Given the description of an element on the screen output the (x, y) to click on. 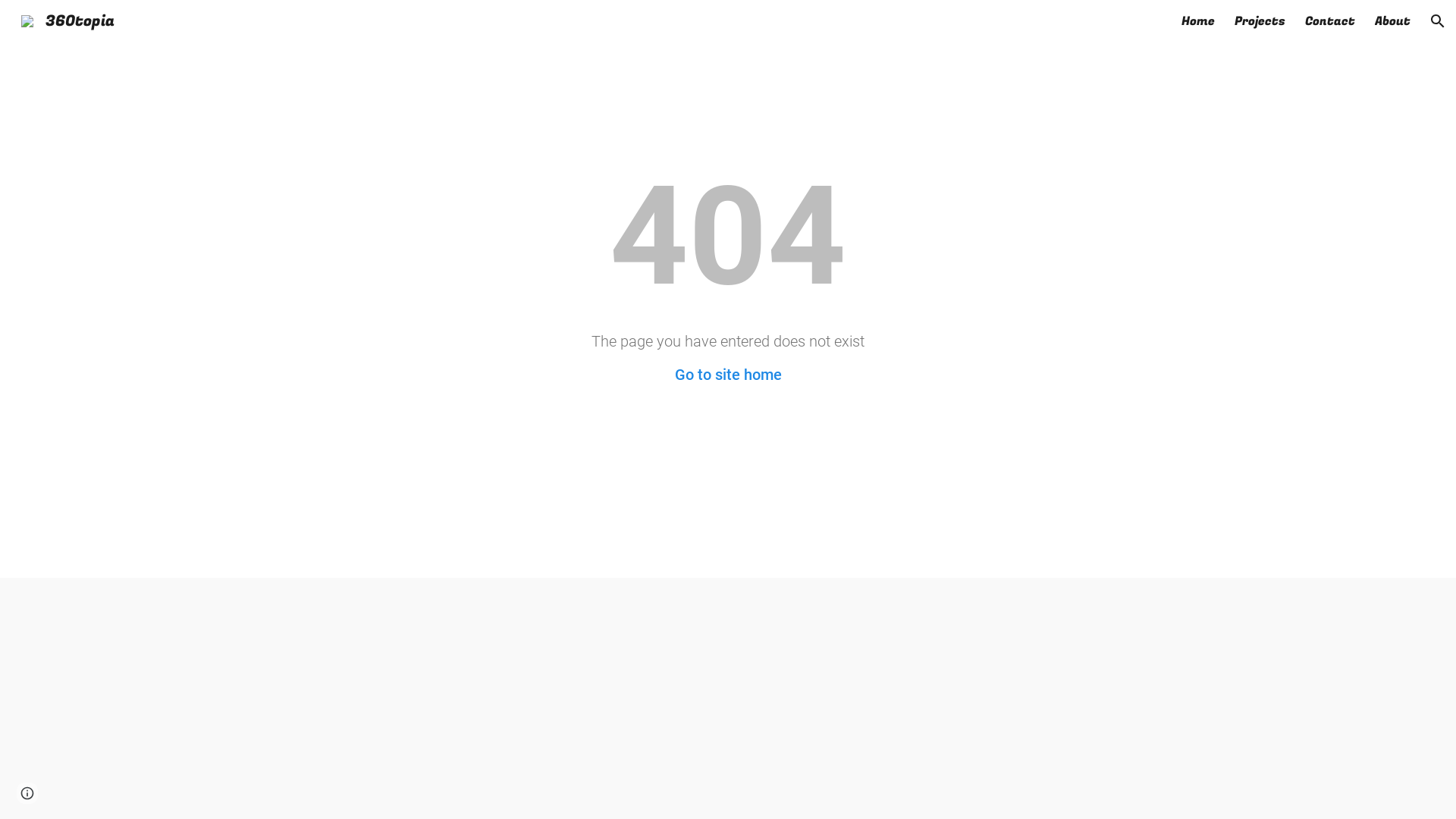
Go to site home Element type: text (727, 374)
About Element type: text (1392, 21)
Projects Element type: text (1259, 21)
Contact Element type: text (1330, 21)
360topia Element type: text (67, 20)
Home Element type: text (1197, 21)
